Given the description of an element on the screen output the (x, y) to click on. 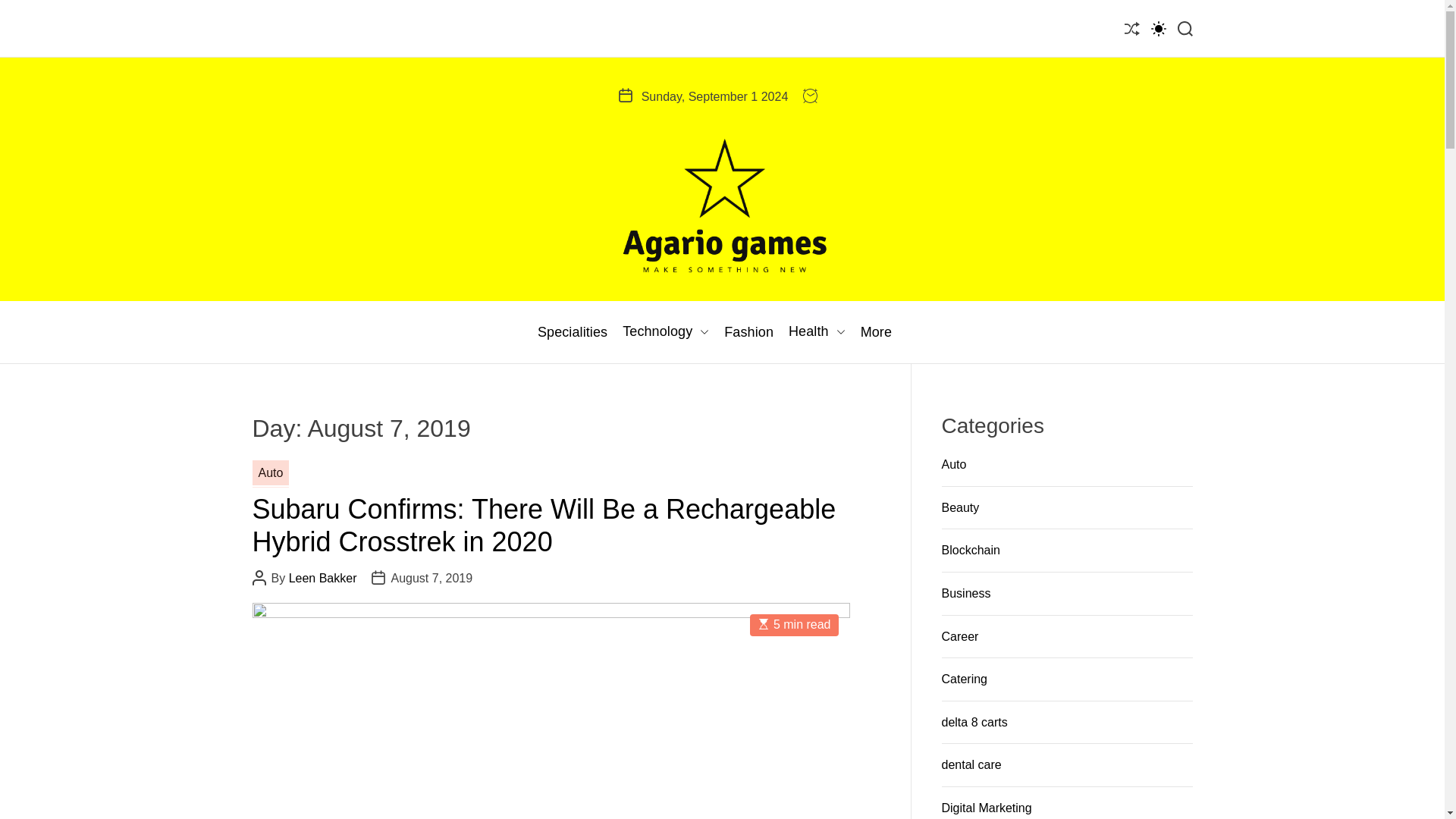
Specialities (572, 332)
Business (966, 593)
Health (817, 332)
Fashion (748, 332)
More (875, 332)
Auto (954, 463)
Leen Bakker (322, 577)
Technology (666, 332)
